Given the description of an element on the screen output the (x, y) to click on. 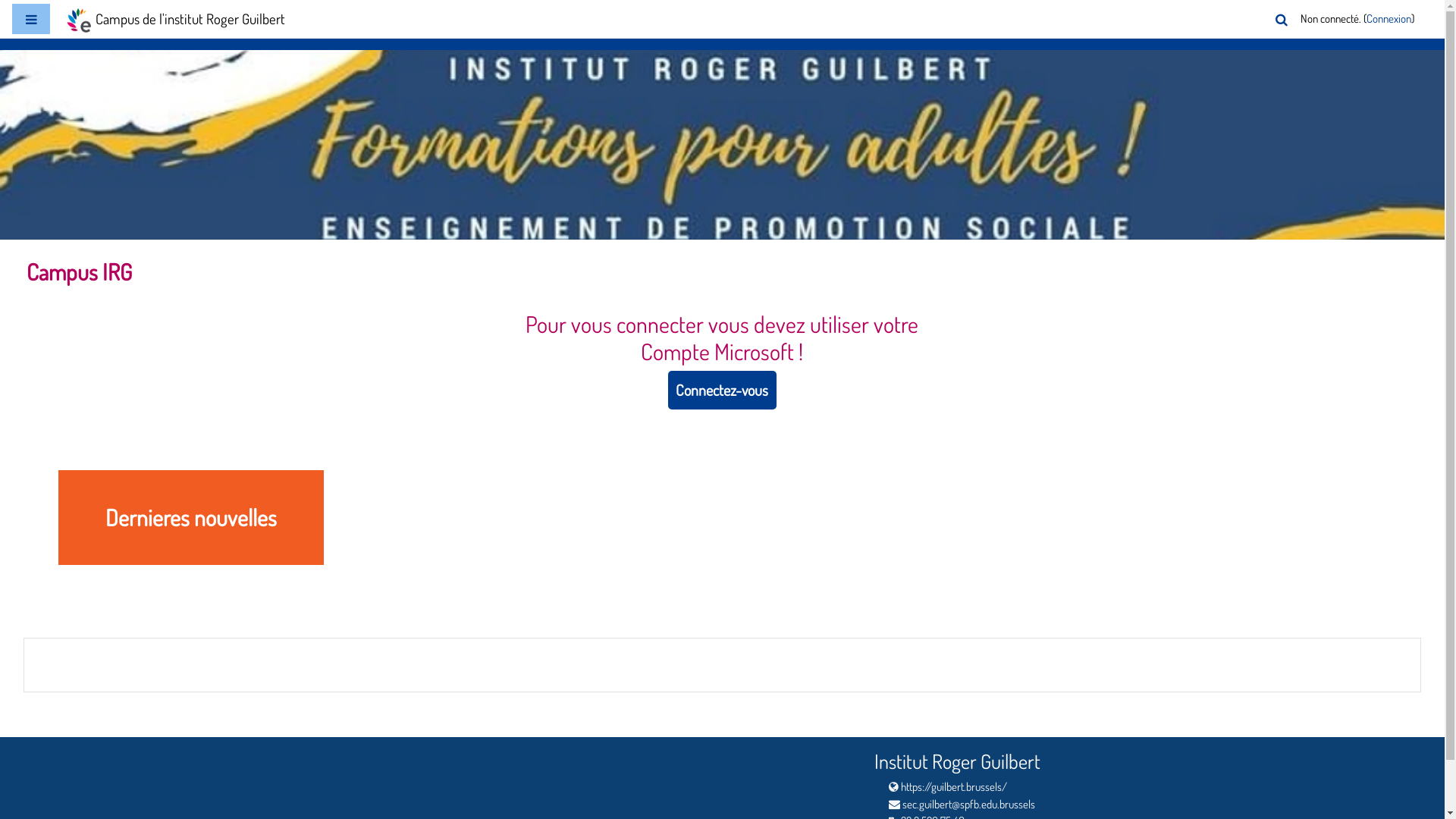
  Element type: text (25, 658)
Connectez-vous Element type: text (722, 389)
Campus de l'institut Roger Guilbert Element type: text (175, 18)
Campus IRG Element type: text (78, 274)
Connexion Element type: text (1388, 19)
